Given the description of an element on the screen output the (x, y) to click on. 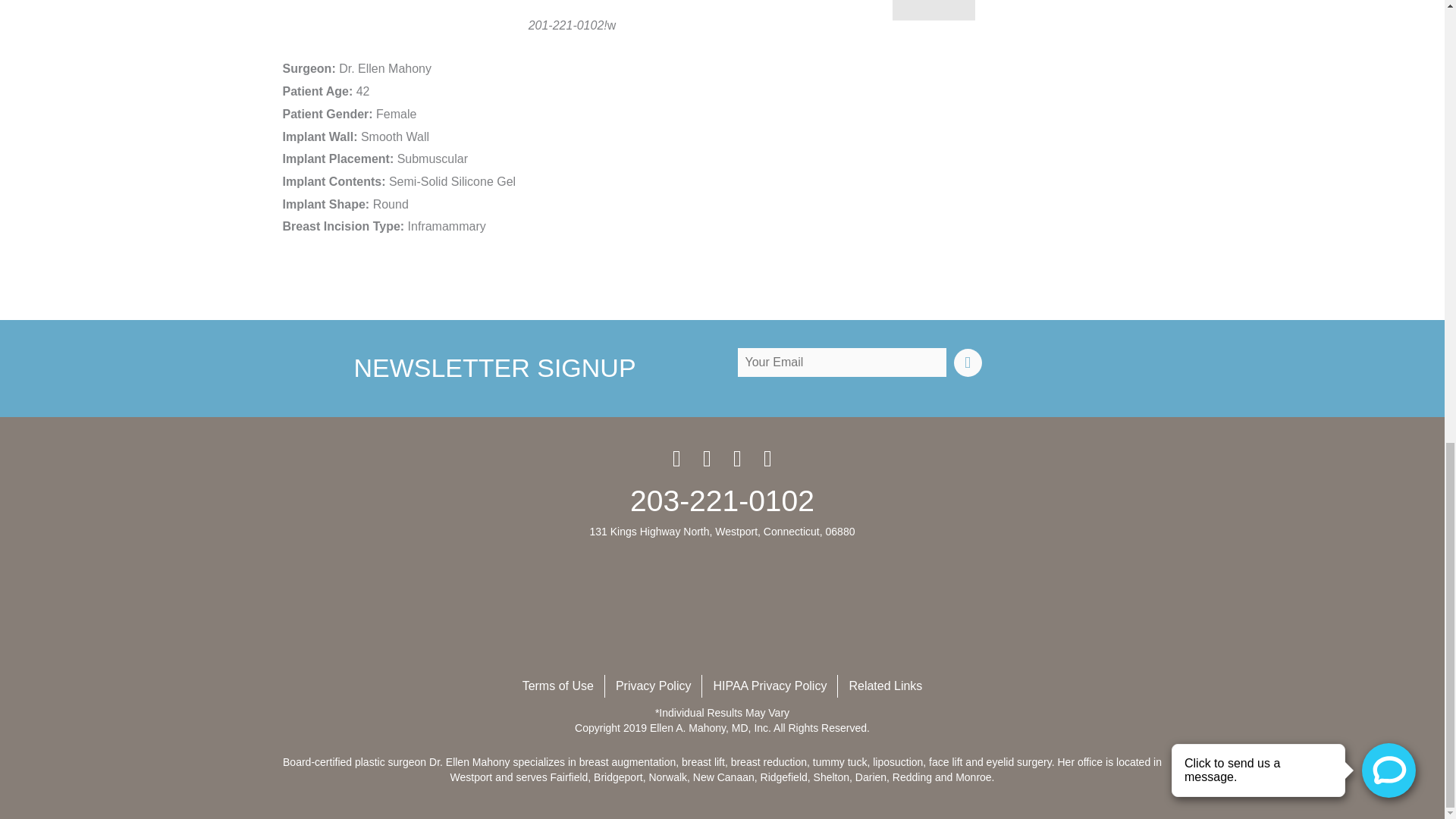
Click Here (967, 362)
Submit (933, 10)
accolades-footer-edited (721, 610)
